Given the description of an element on the screen output the (x, y) to click on. 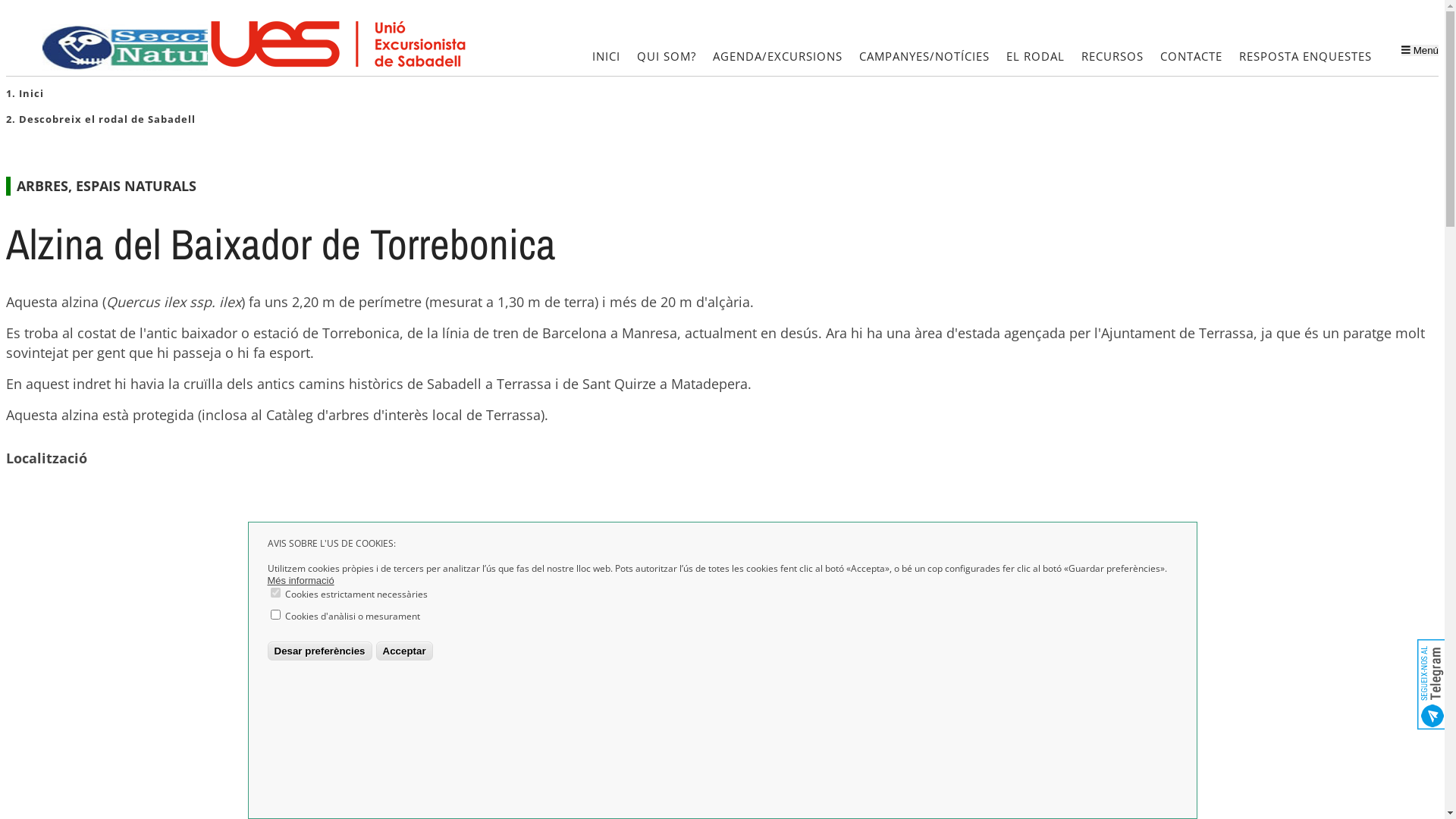
ARBRES, ESPAIS NATURALS Element type: text (106, 185)
EL RODAL Element type: text (1035, 56)
Descobreix el rodal de Sabadell Element type: text (106, 118)
QUI SOM? Element type: text (666, 56)
INICI Element type: text (606, 56)
RECURSOS Element type: text (1112, 56)
AGENDA/EXCURSIONS Element type: text (777, 56)
RESPOSTA ENQUESTES Element type: text (1305, 56)
CONTACTE Element type: text (1191, 56)
Inici Element type: text (30, 93)
Acceptar Element type: text (404, 651)
Inici Element type: hover (138, 44)
